Given the description of an element on the screen output the (x, y) to click on. 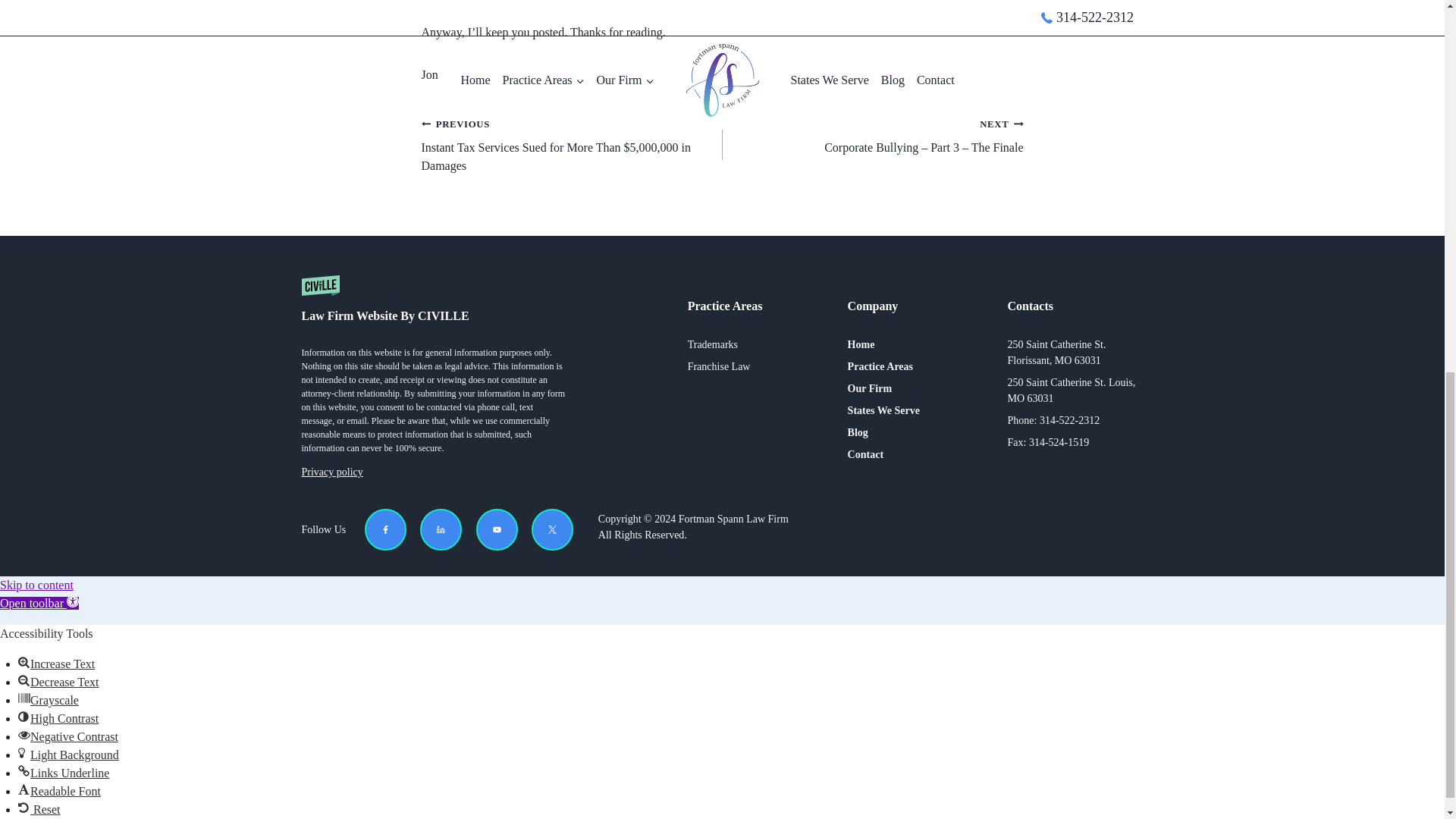
Home (861, 344)
Readable Font (23, 788)
Increase Text (23, 662)
Accessibility Tools (39, 603)
Practice Areas (879, 366)
High Contrast (23, 716)
Negative Contrast (23, 734)
Reset (23, 807)
Light Background (23, 752)
Franchise Law (719, 366)
